Given the description of an element on the screen output the (x, y) to click on. 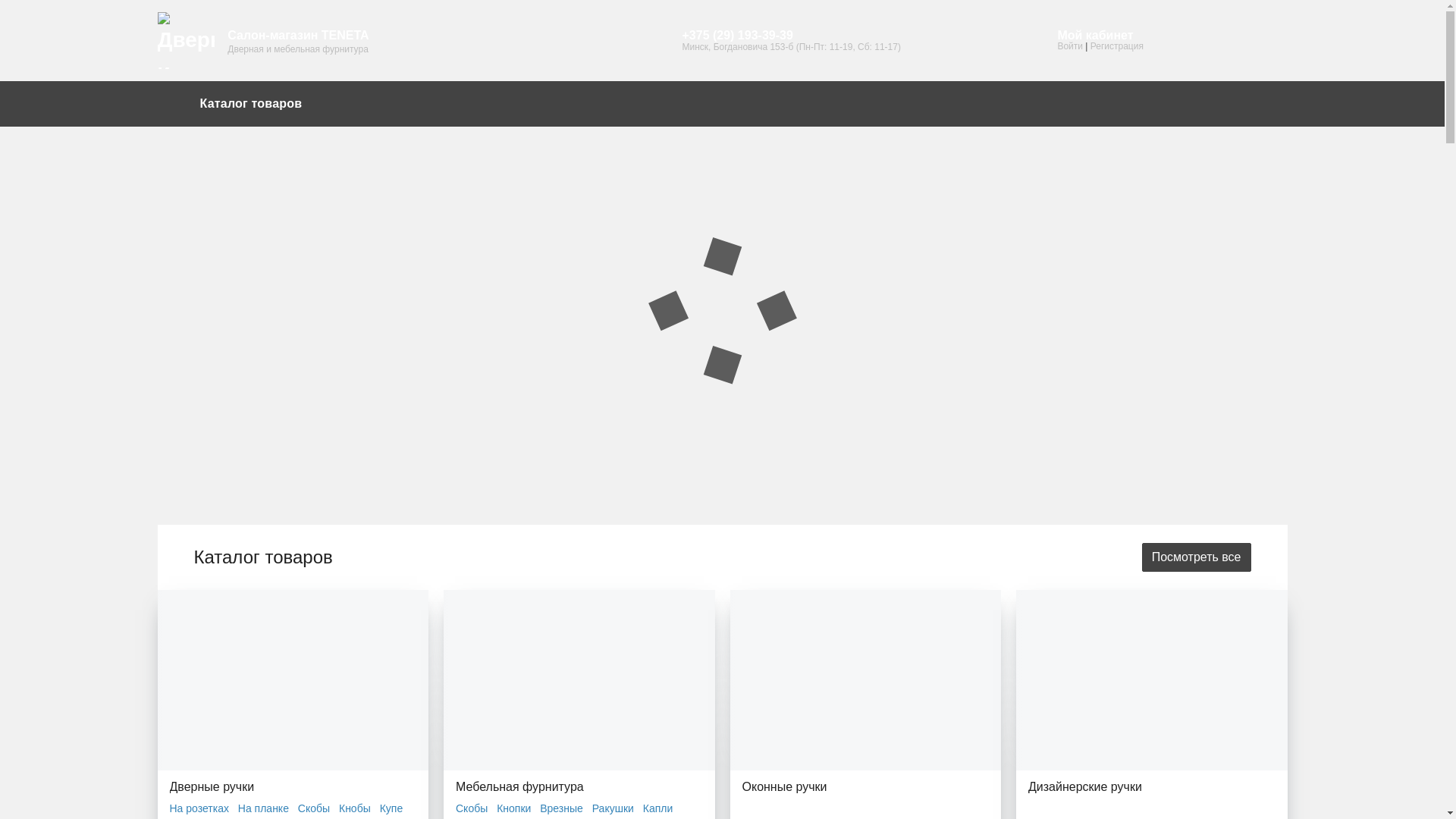
+375 (29) 193-39-39 Element type: text (790, 35)
